Given the description of an element on the screen output the (x, y) to click on. 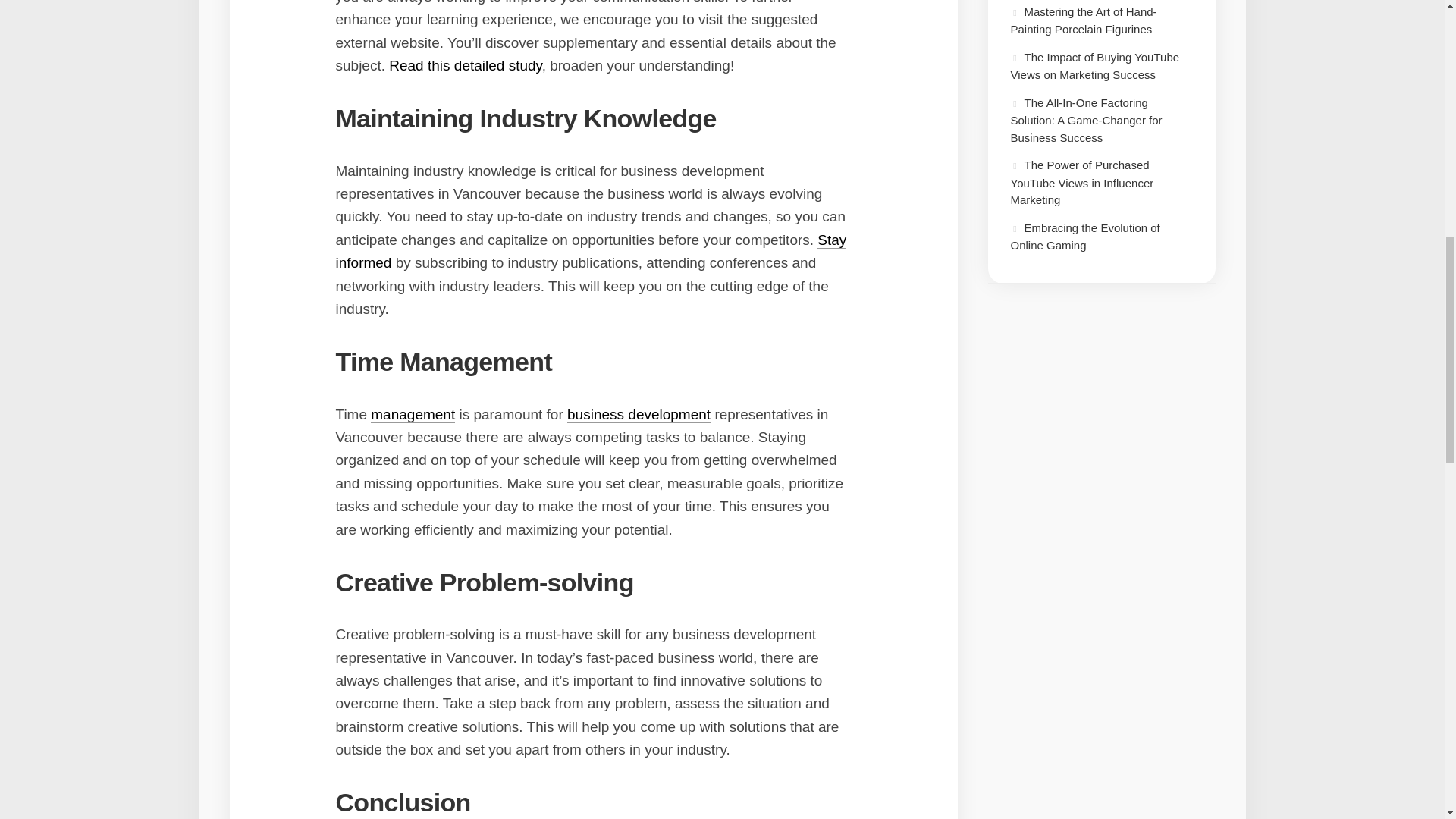
Read this detailed study (464, 65)
management (412, 414)
The Power of Purchased YouTube Views in Influencer Marketing (1081, 182)
The Impact of Buying YouTube Views on Marketing Success (1094, 65)
Stay informed (589, 251)
business development (638, 414)
Mastering the Art of Hand-Painting Porcelain Figurines (1083, 20)
